Given the description of an element on the screen output the (x, y) to click on. 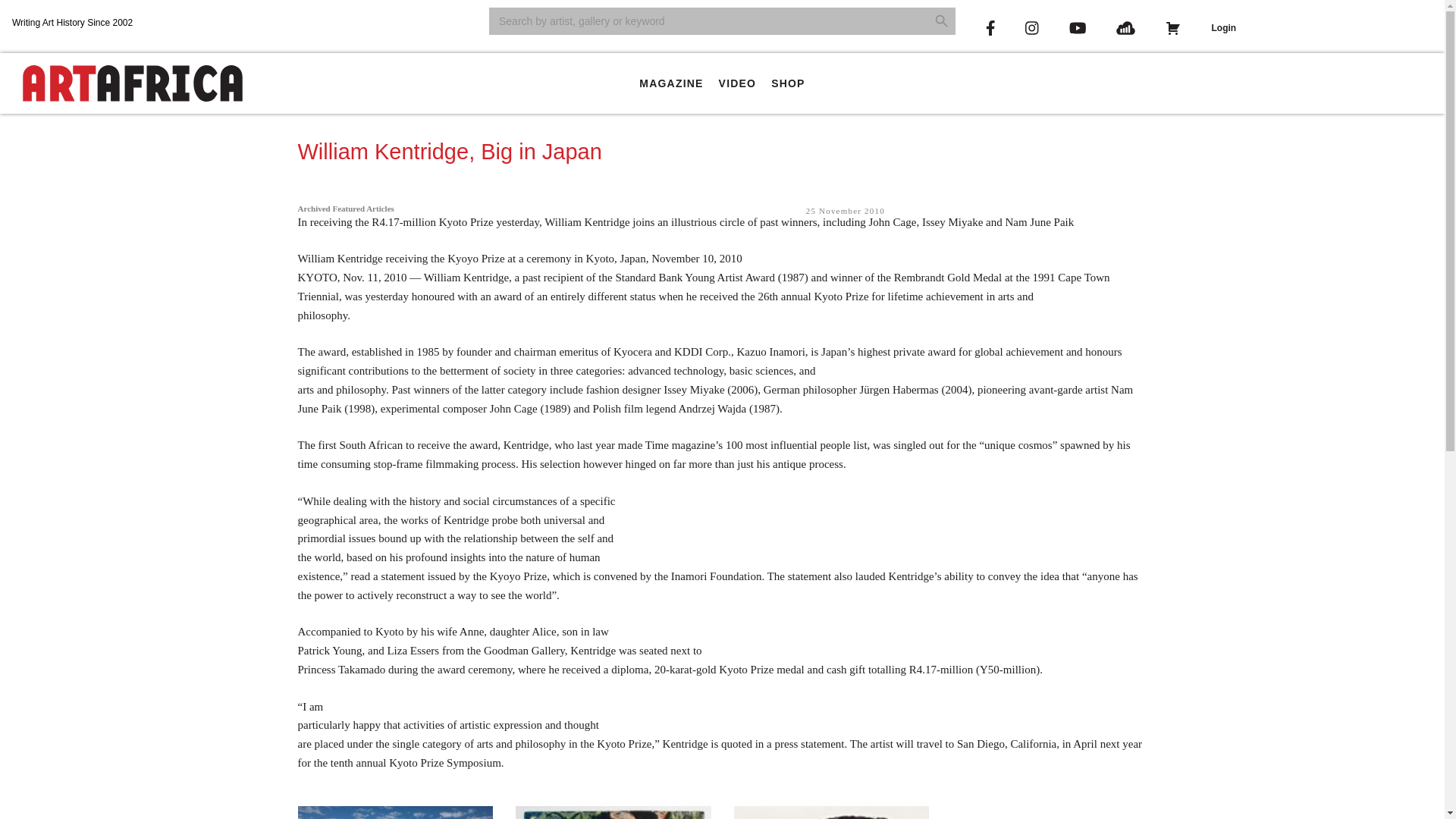
25 November 2010 (845, 210)
Archived Featured Articles (345, 207)
Search Button (941, 21)
SHOP (787, 83)
Login (1222, 27)
MAGAZINE (670, 83)
William Kentridge, Big in Japan (449, 151)
VIDEO (737, 83)
